Given the description of an element on the screen output the (x, y) to click on. 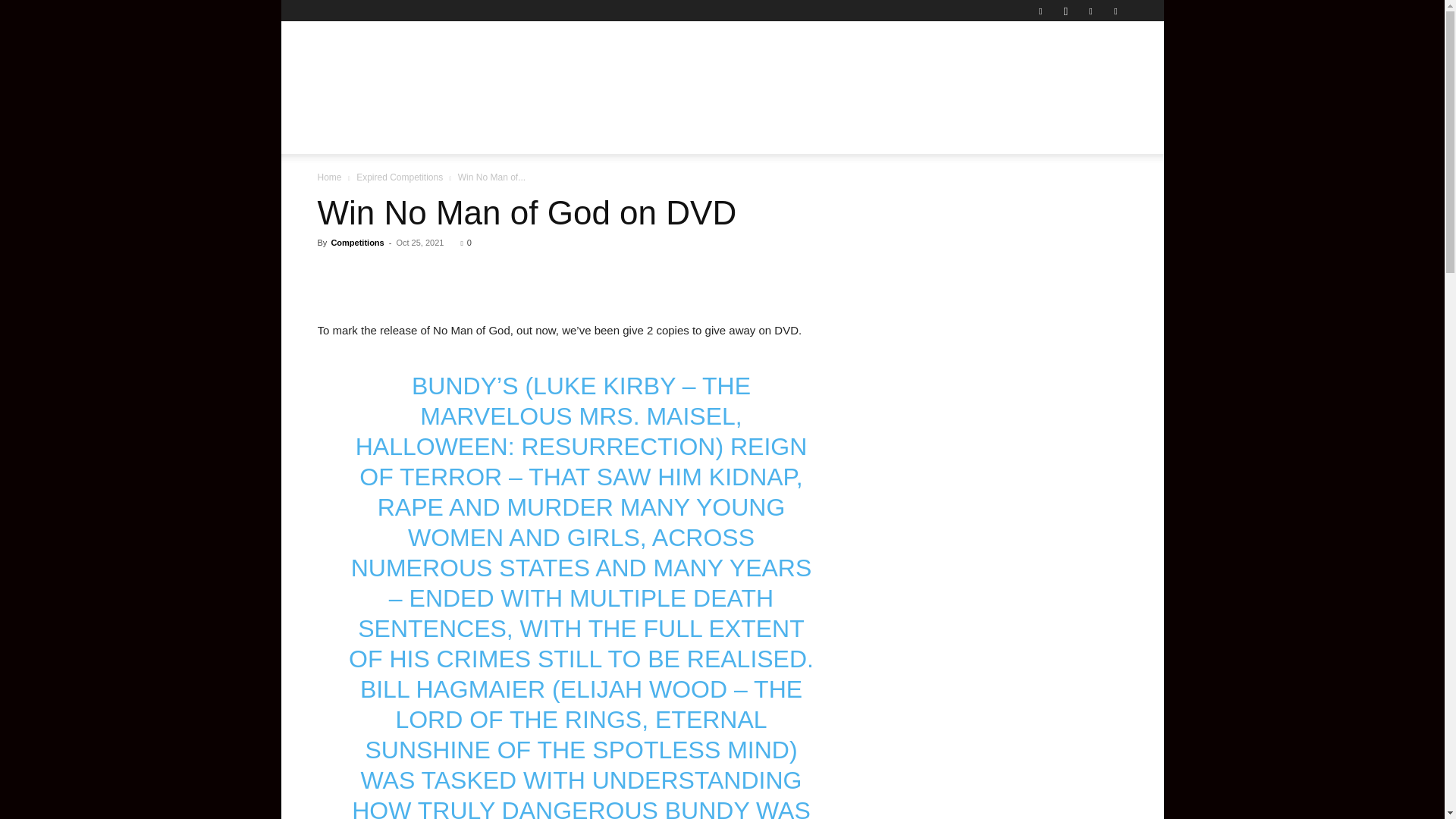
REVIEWS (458, 135)
Home (328, 176)
COMPETITIONS (818, 135)
HOME (343, 135)
Expired Competitions (399, 176)
Search (1085, 196)
Competitions (357, 242)
Facebook (1040, 10)
ABOUT (971, 135)
FEATURES (693, 135)
